Given the description of an element on the screen output the (x, y) to click on. 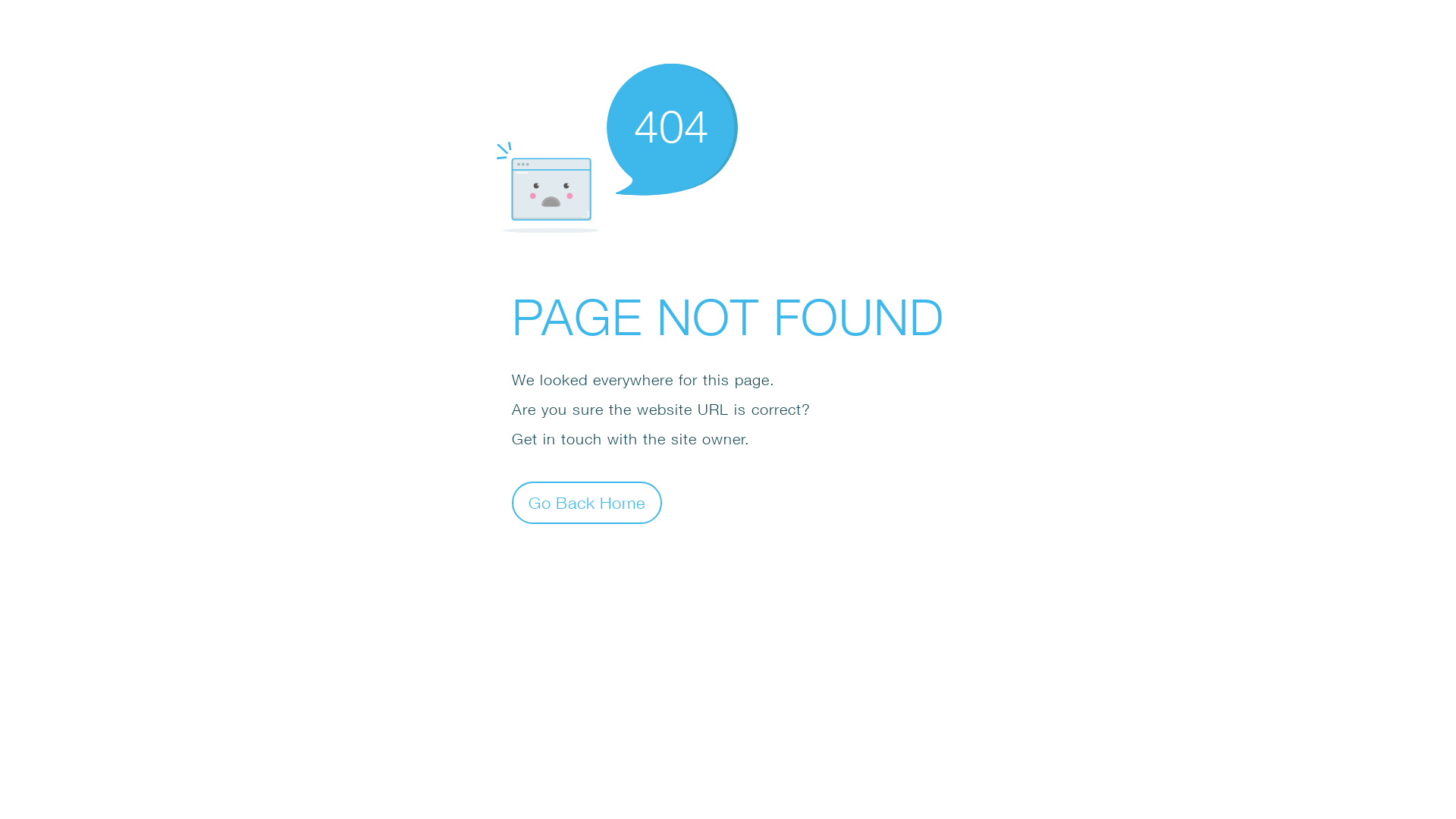
Go Back Home Element type: text (586, 502)
